Given the description of an element on the screen output the (x, y) to click on. 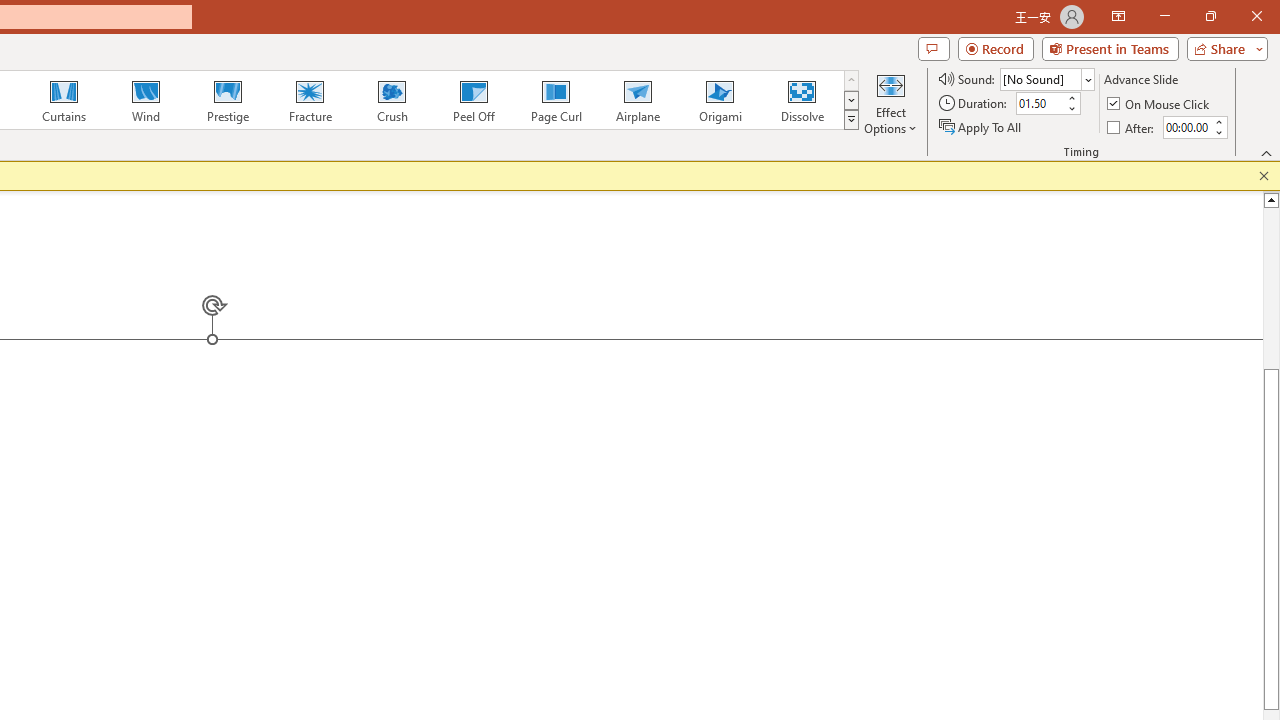
Prestige (227, 100)
Dissolve (802, 100)
